Given the description of an element on the screen output the (x, y) to click on. 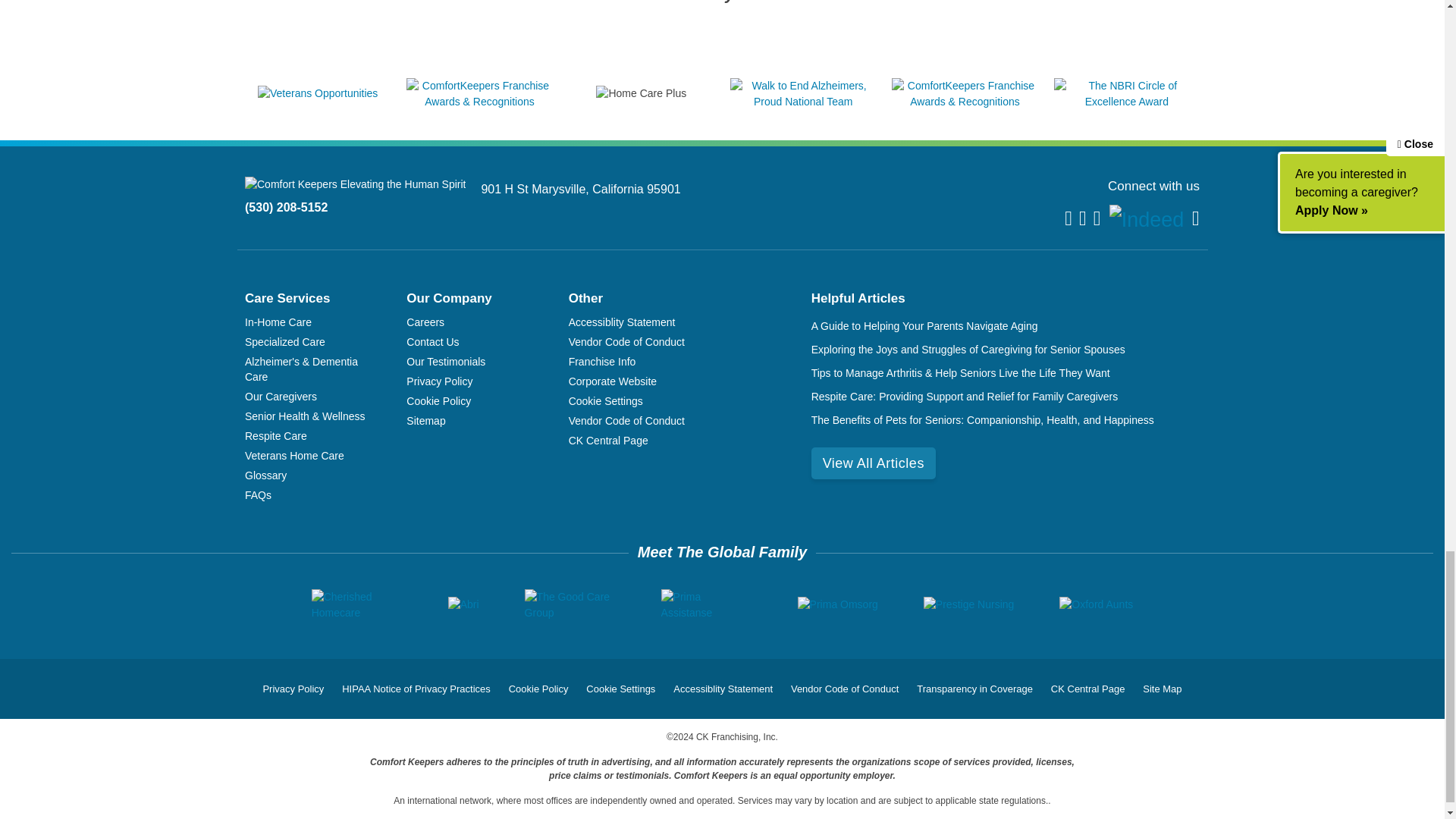
Oxford Aunts (1095, 604)
Veterans Opportunities (317, 92)
Prima Omsorg (837, 604)
Indeed (1147, 219)
Walk to End Alzheimers, Proud National Team (803, 101)
The Good Care Group (569, 604)
Learn more about the NBRI Circle of Excellence Award (1126, 101)
Cherished Homecare (357, 604)
Indeed (1147, 219)
Prima Assistanse (706, 604)
